Given the description of an element on the screen output the (x, y) to click on. 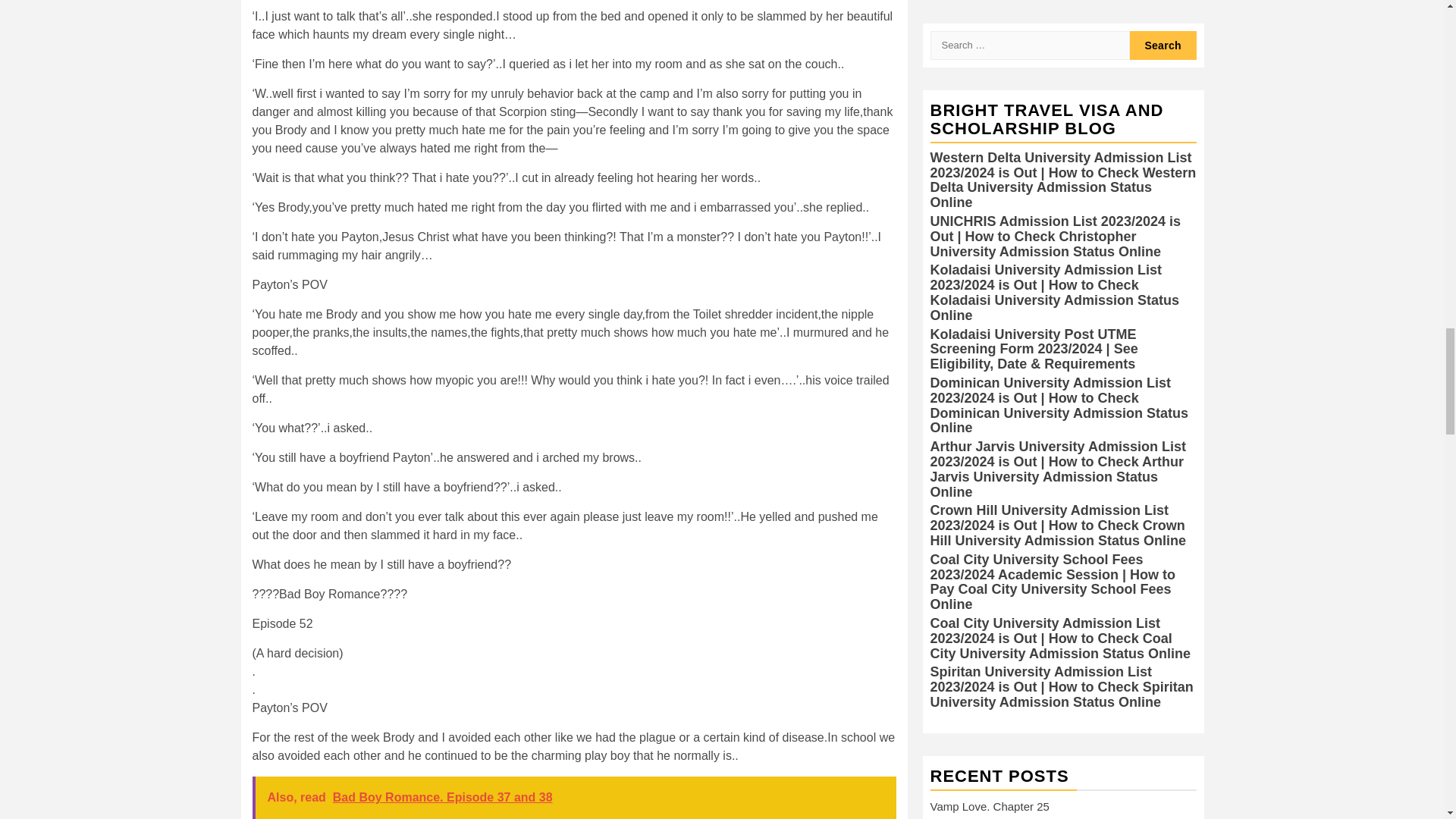
Also, read  Bad Boy Romance. Episode 37 and 38 (573, 797)
